Given the description of an element on the screen output the (x, y) to click on. 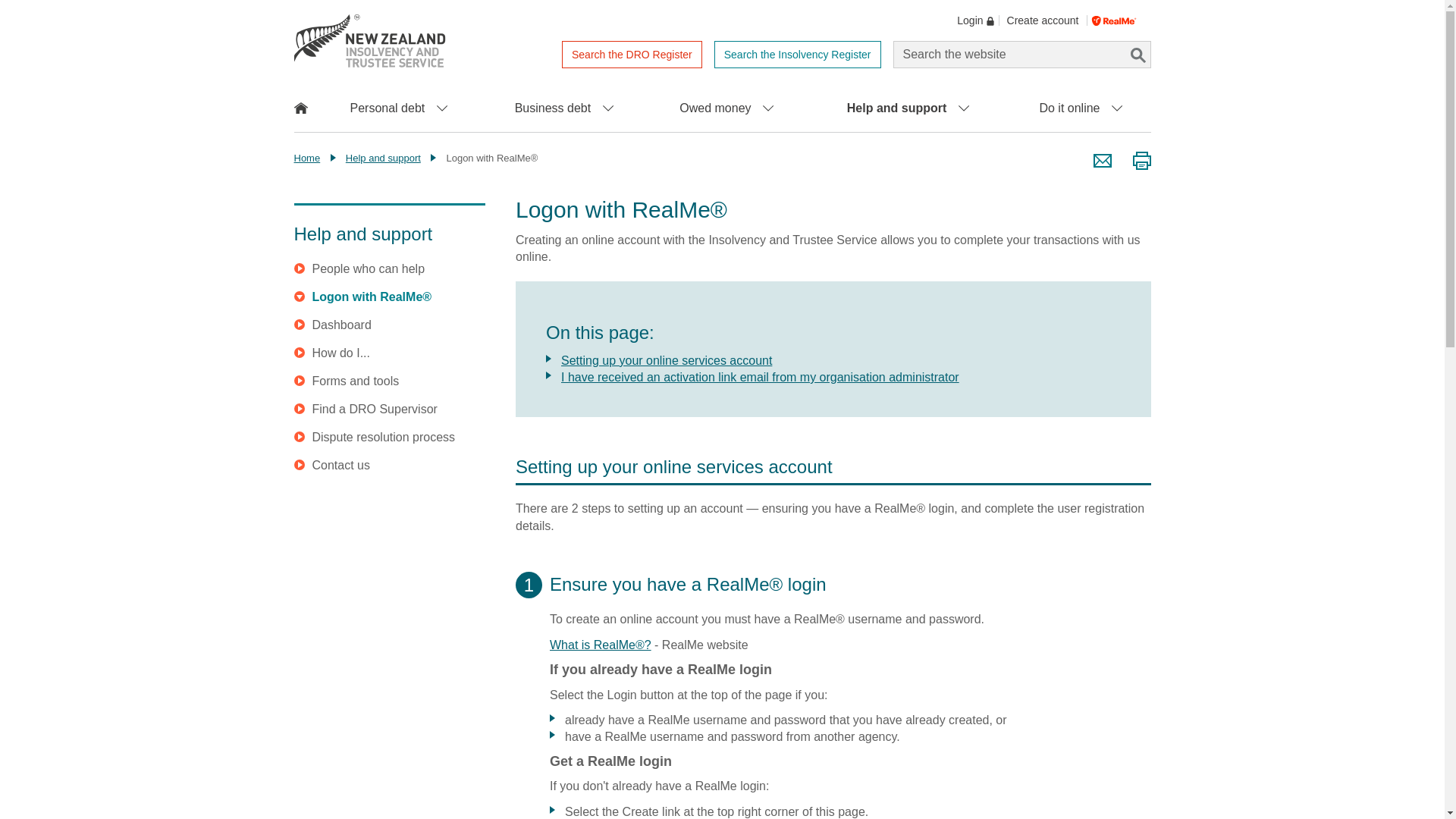
Search the Insolvency Register (797, 53)
Login (969, 20)
Log in with RealMe (1122, 20)
Return to homepage (369, 40)
Search the DRO Register (631, 53)
Enter your search terms (1022, 53)
Open external link (600, 644)
Search (1136, 54)
Create account (1042, 20)
Insolvency and Trustee Service (369, 40)
